Given the description of an element on the screen output the (x, y) to click on. 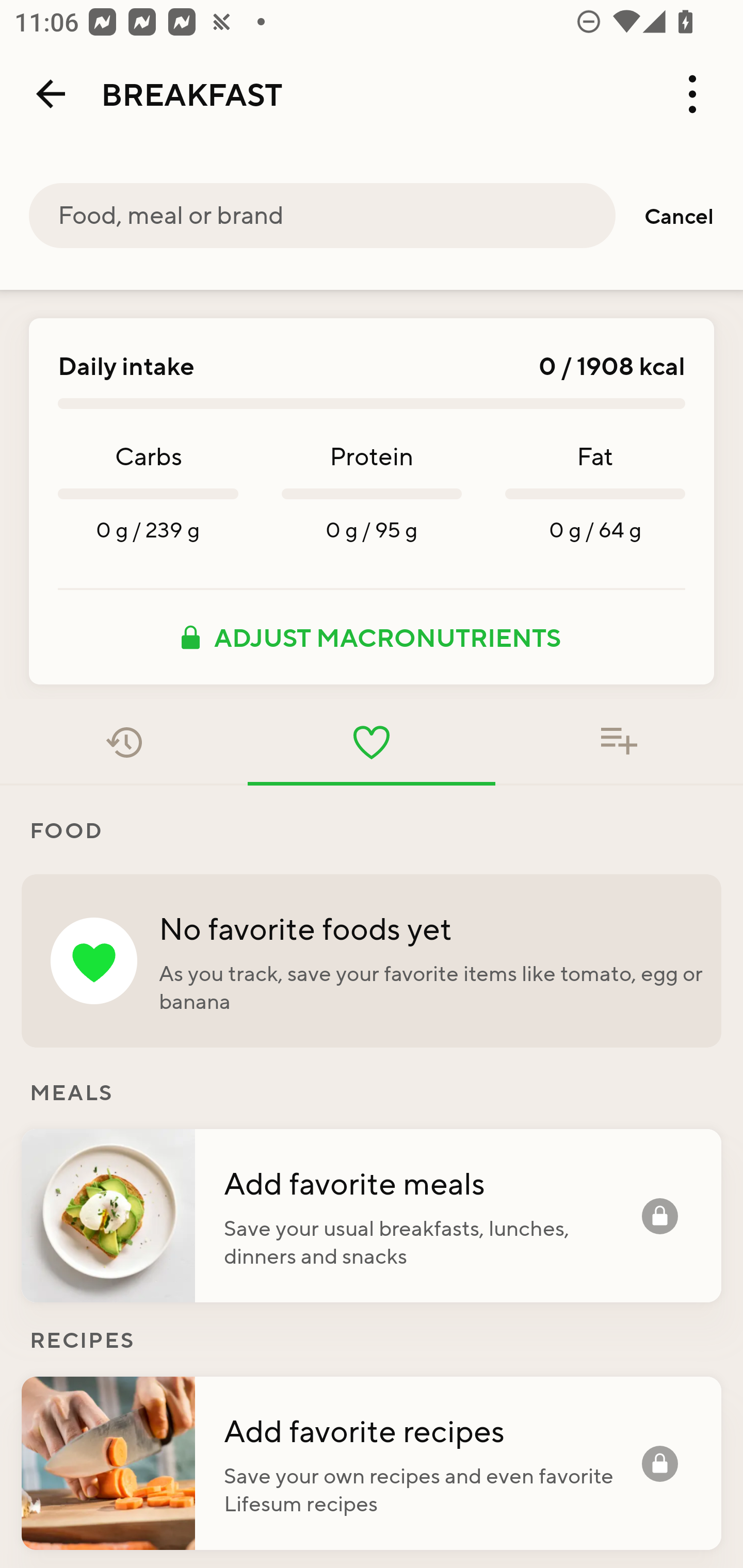
Back (50, 93)
Cancel (679, 215)
ADJUST MACRONUTRIENTS (371, 637)
Recent (123, 742)
Food added (619, 742)
Add favorite meals (432, 1182)
Add favorite recipes (432, 1429)
